Given the description of an element on the screen output the (x, y) to click on. 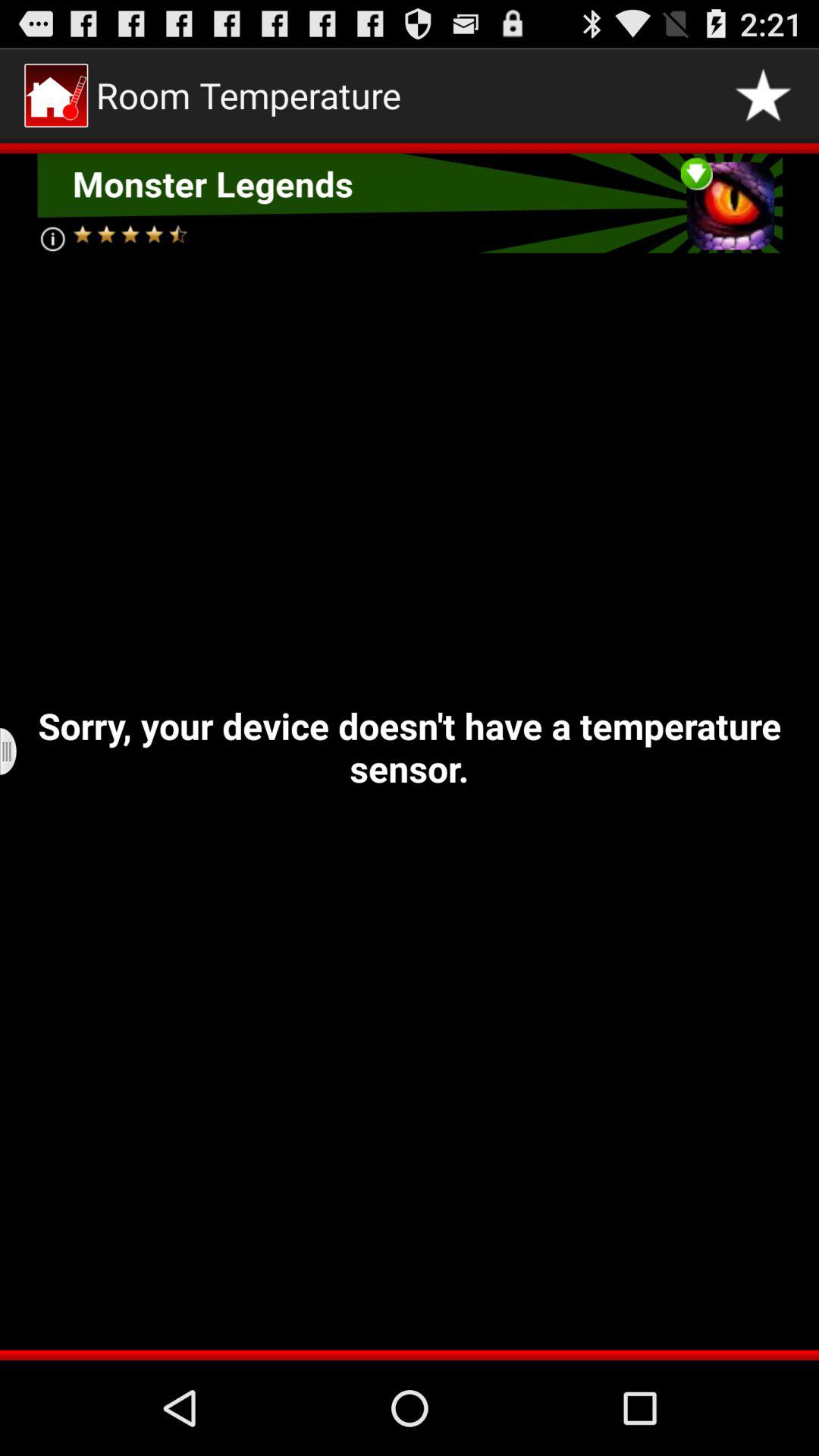
launch icon at the top right corner (763, 95)
